Given the description of an element on the screen output the (x, y) to click on. 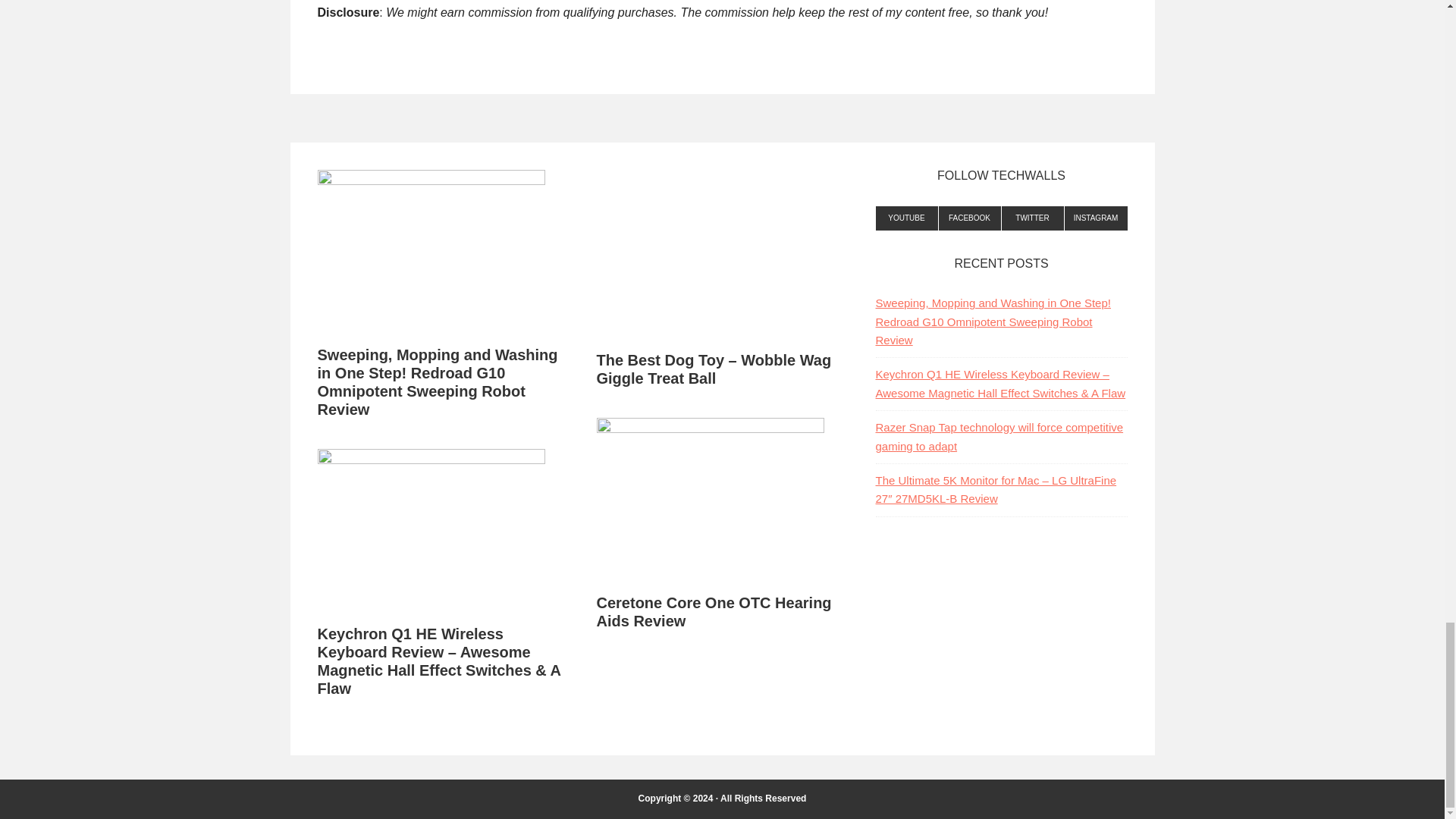
Ceretone Core One OTC Hearing Aids Review (713, 611)
YOUTUBE (906, 218)
INSTAGRAM (1095, 218)
TWITTER (1032, 218)
FACEBOOK (970, 218)
